Given the description of an element on the screen output the (x, y) to click on. 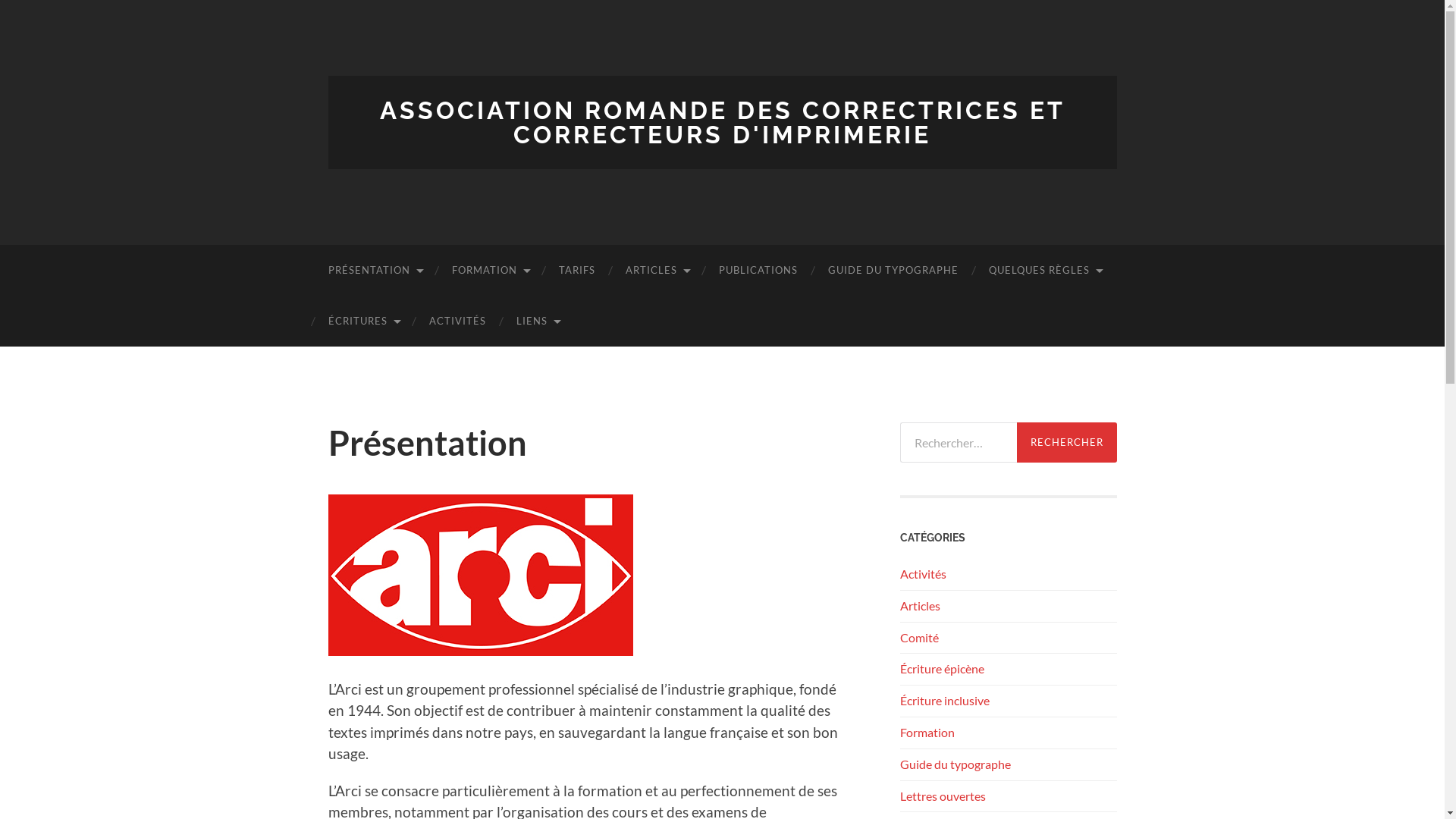
Formation Element type: text (926, 731)
LIENS Element type: text (536, 320)
FORMATION Element type: text (489, 269)
Lettres ouvertes Element type: text (942, 795)
TARIFS Element type: text (575, 269)
PUBLICATIONS Element type: text (757, 269)
Rechercher Element type: text (1066, 442)
ARTICLES Element type: text (655, 269)
GUIDE DU TYPOGRAPHE Element type: text (892, 269)
Articles Element type: text (919, 605)
Guide du typographe Element type: text (954, 763)
